Given the description of an element on the screen output the (x, y) to click on. 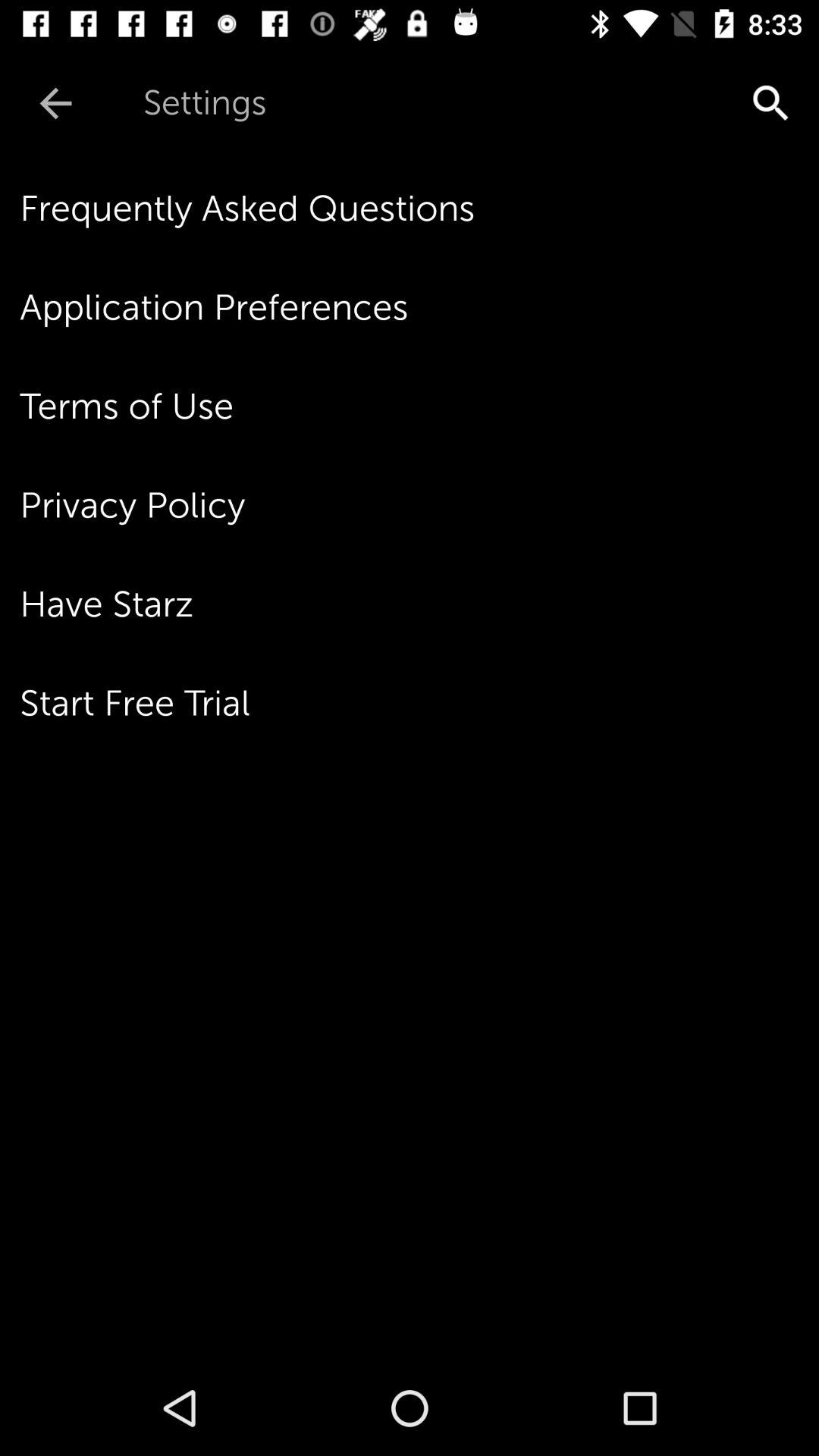
choose the application preferences item (419, 307)
